Given the description of an element on the screen output the (x, y) to click on. 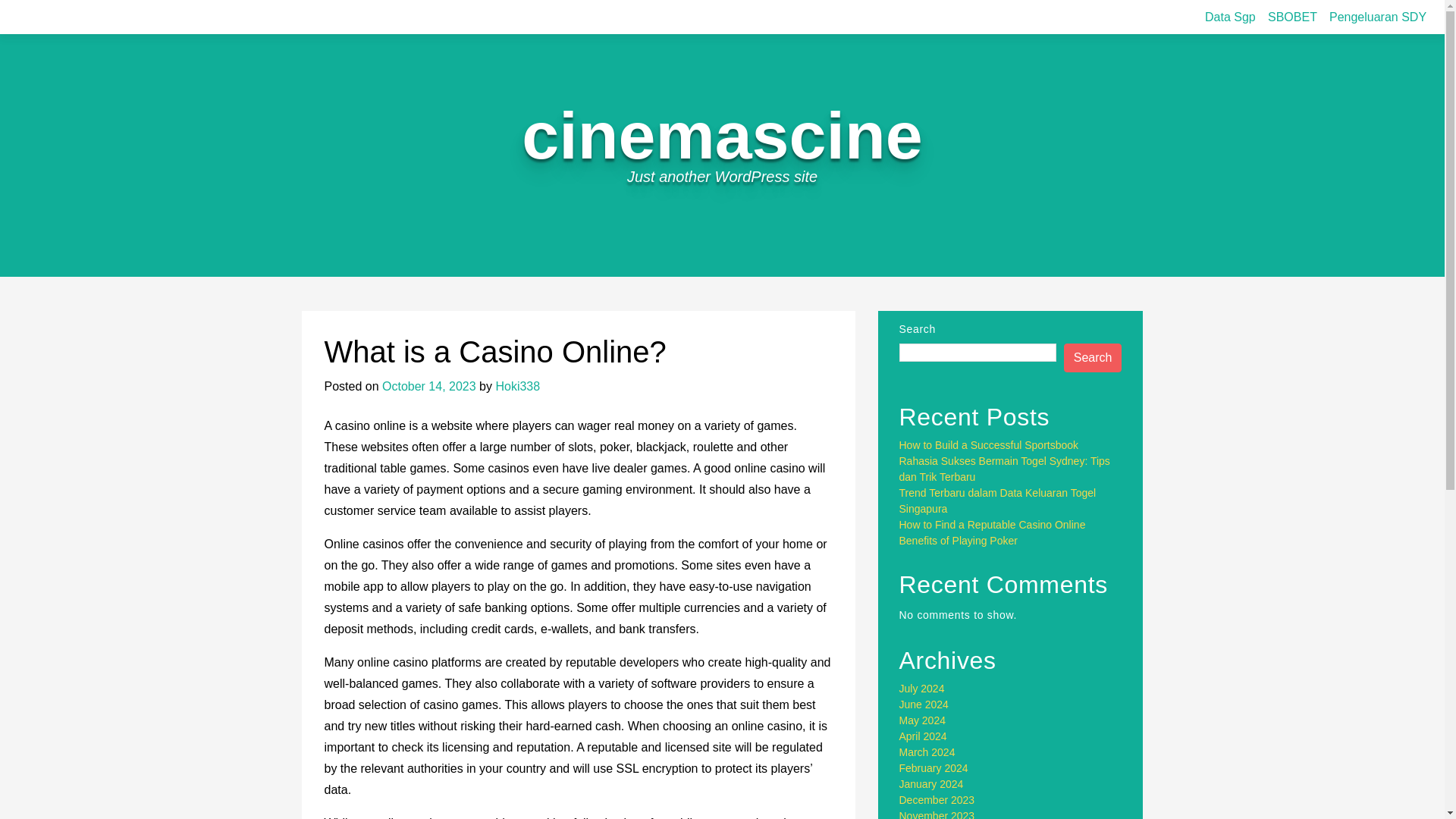
SBOBET (1292, 16)
Trend Terbaru dalam Data Keluaran Togel Singapura (997, 500)
July 2024 (921, 688)
June 2024 (924, 704)
SBOBET (1292, 16)
Pengeluaran SDY (1377, 16)
November 2023 (937, 814)
May 2024 (921, 720)
Data Sgp (1230, 16)
How to Build a Successful Sportsbook (988, 444)
March 2024 (927, 752)
December 2023 (937, 799)
October 14, 2023 (428, 386)
Data Sgp (1230, 16)
Rahasia Sukses Bermain Togel Sydney: Tips dan Trik Terbaru (1004, 469)
